Given the description of an element on the screen output the (x, y) to click on. 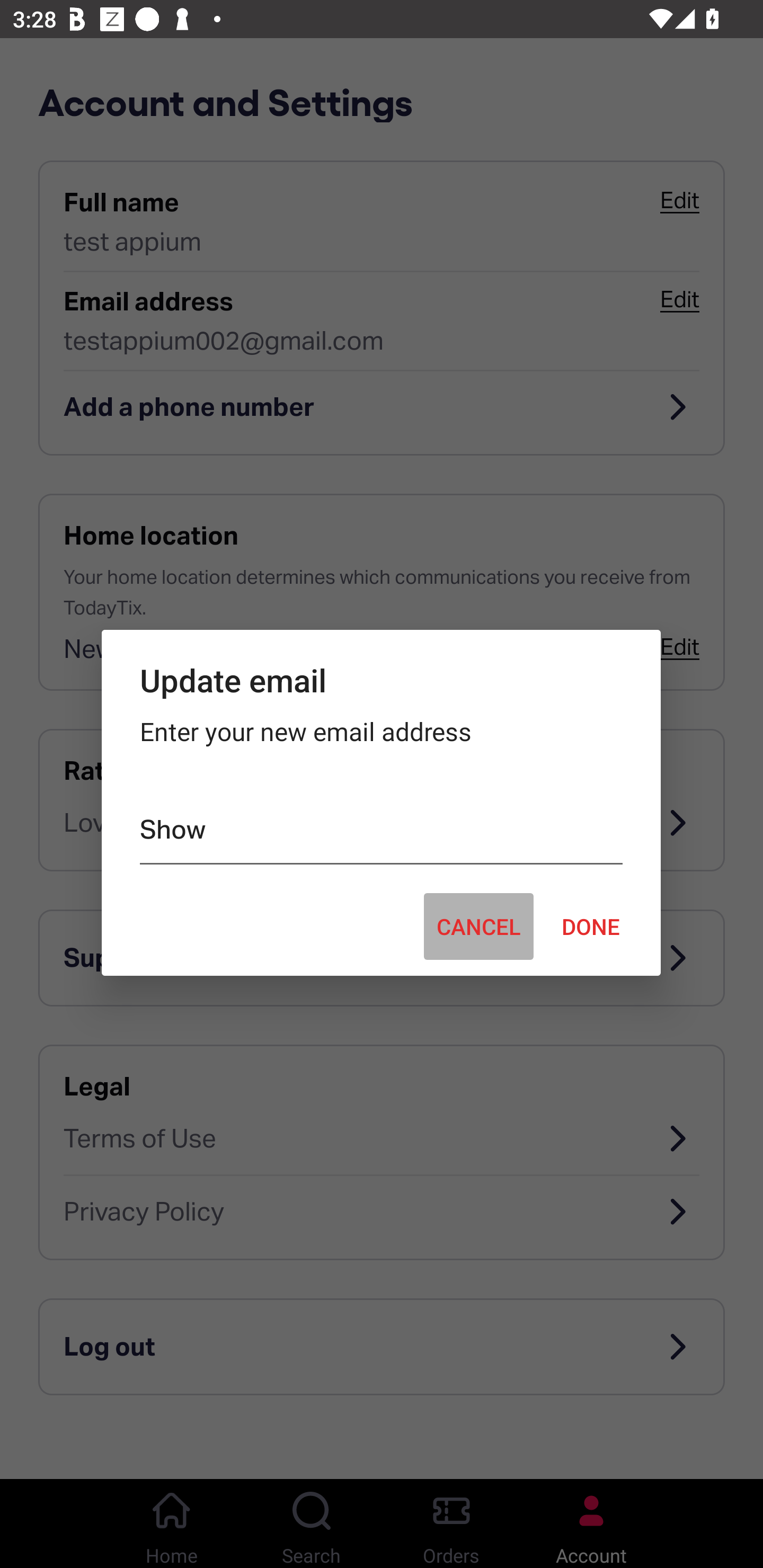
Show (380, 833)
CANCEL (478, 926)
DONE (590, 926)
